Given the description of an element on the screen output the (x, y) to click on. 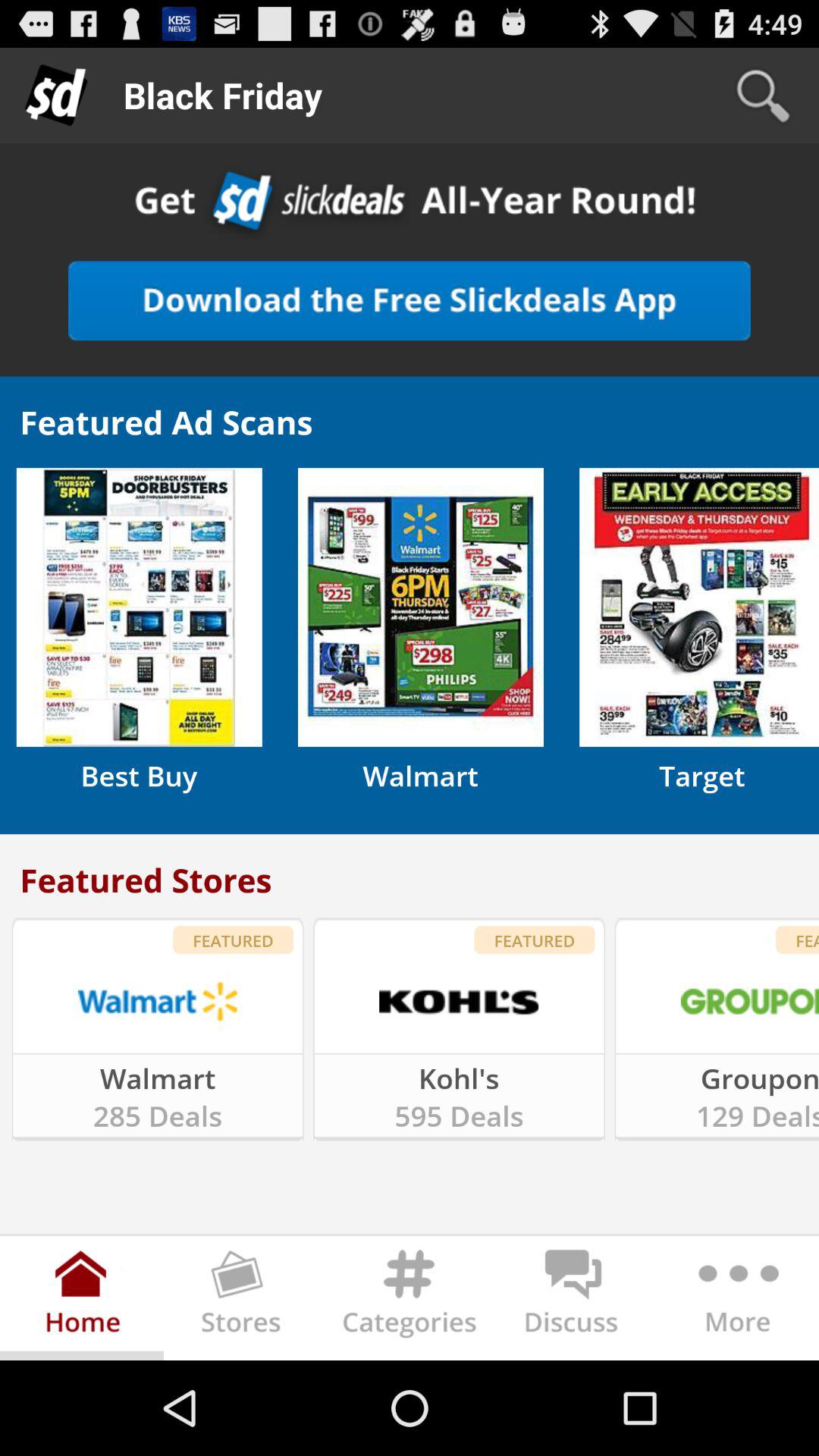
categories (409, 1301)
